Given the description of an element on the screen output the (x, y) to click on. 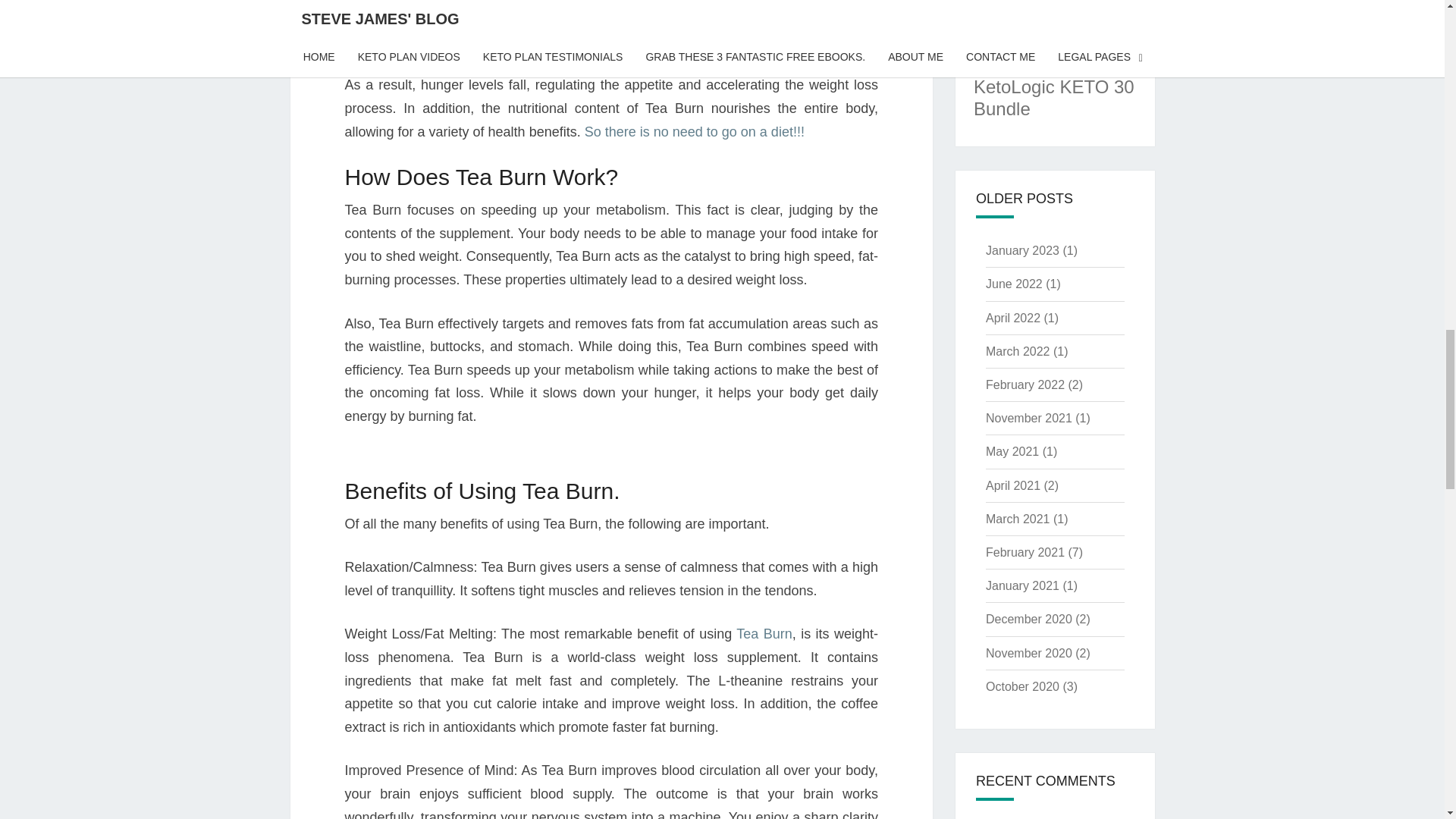
Tea Burn (764, 633)
So there is no need to go on a diet!!! (695, 131)
